Given the description of an element on the screen output the (x, y) to click on. 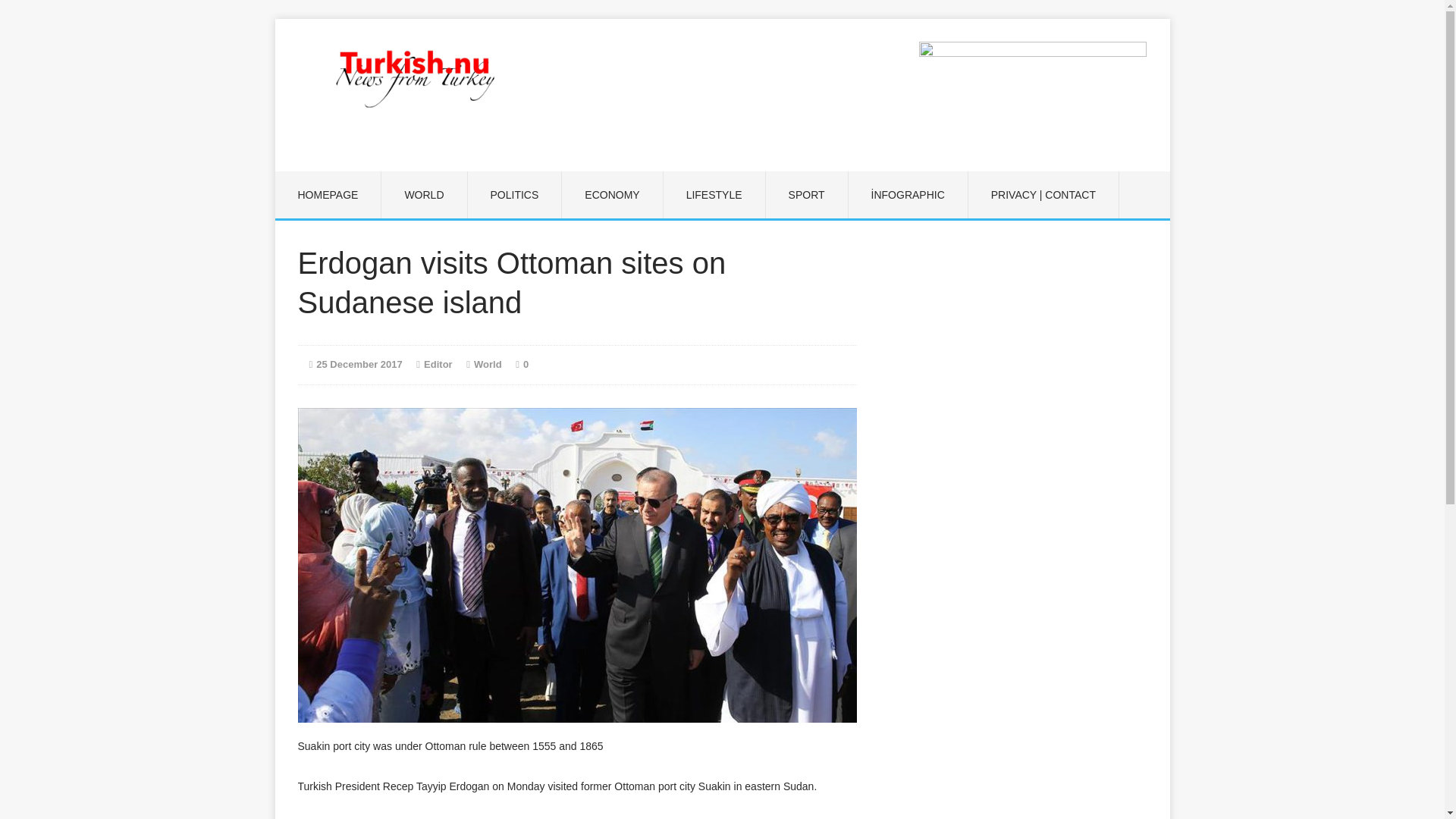
25 December 2017 (358, 364)
World (488, 364)
HOMEPAGE (327, 194)
ECONOMY (612, 194)
POLITICS (513, 194)
Editor (437, 364)
LIFESTYLE (714, 194)
SPORT (806, 194)
WORLD (423, 194)
Turkish (416, 76)
